Given the description of an element on the screen output the (x, y) to click on. 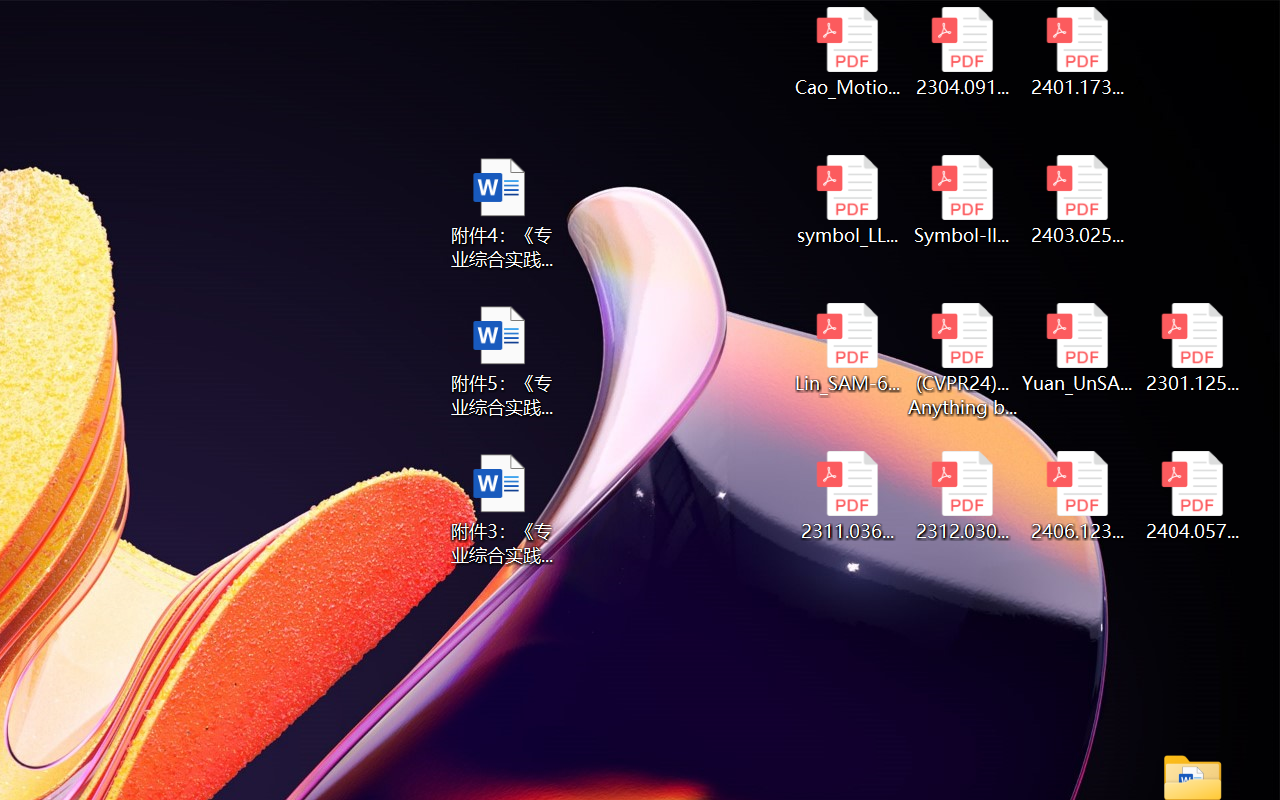
2406.12373v2.pdf (1077, 496)
